Given the description of an element on the screen output the (x, y) to click on. 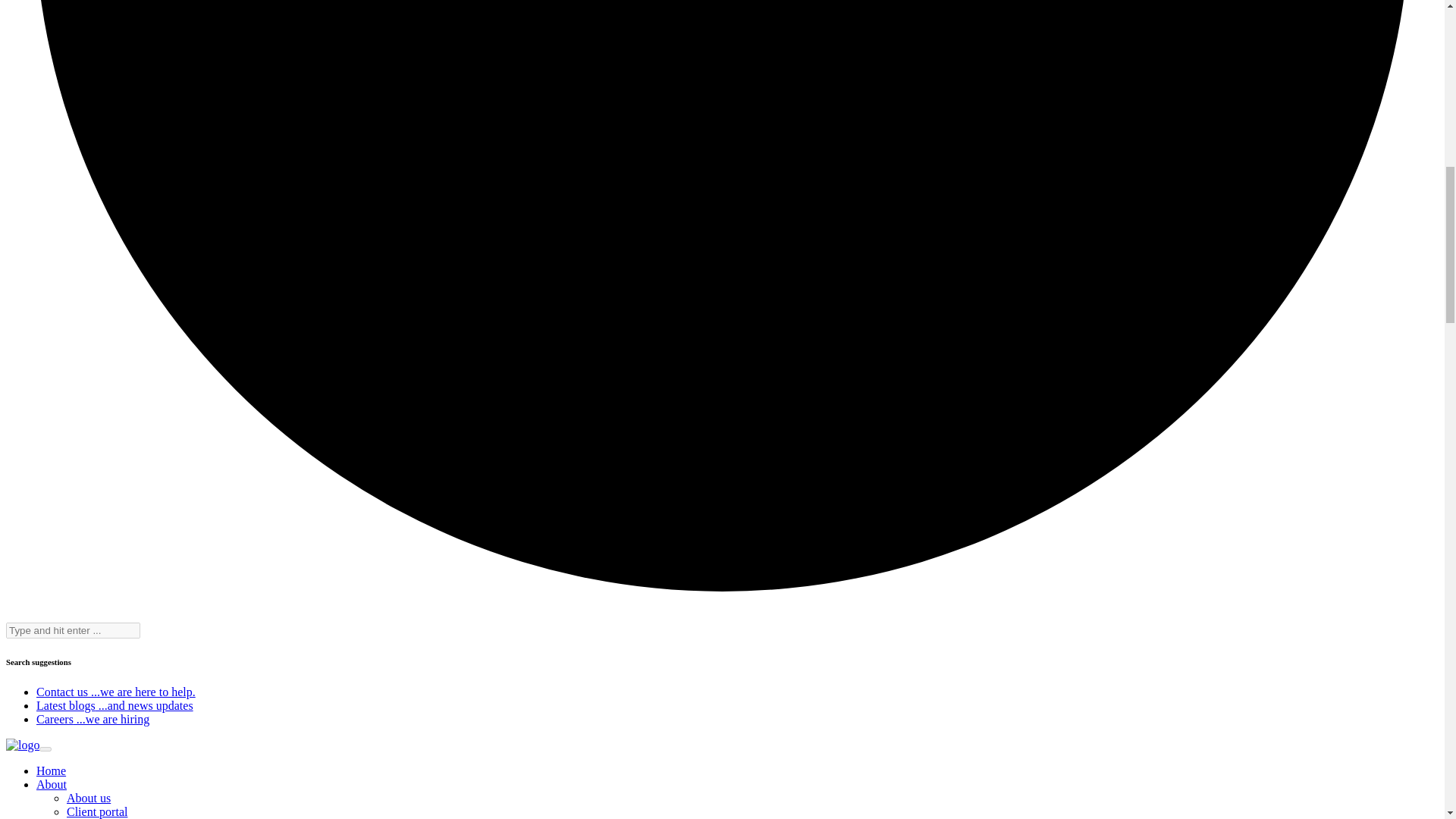
Contact us ...we are here to help. (115, 691)
About (51, 784)
About us (88, 797)
Careers ...we are hiring (92, 718)
Home (50, 770)
Client portal (97, 811)
Latest blogs ...and news updates (114, 705)
